Given the description of an element on the screen output the (x, y) to click on. 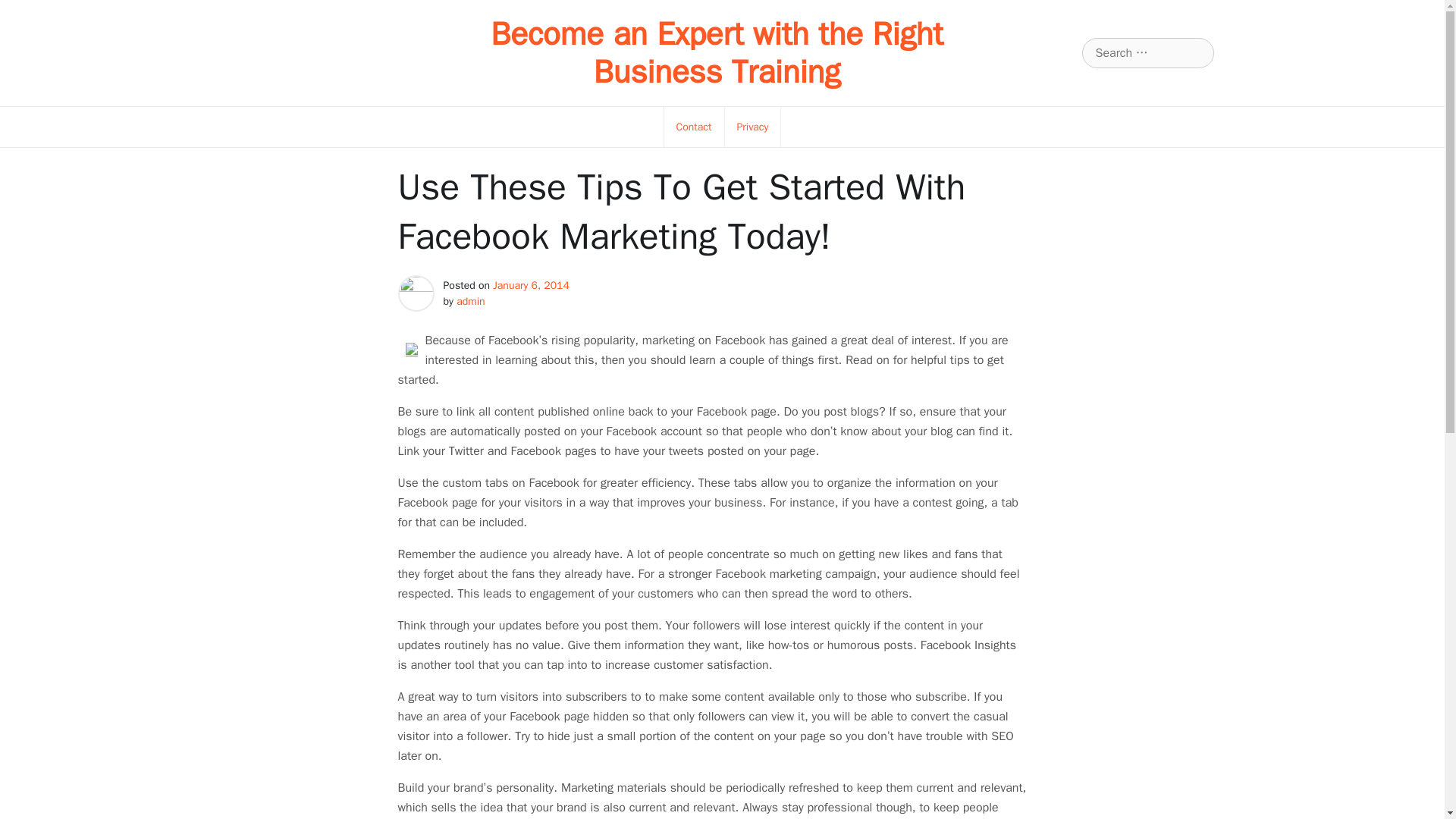
Contact (694, 127)
Privacy (752, 127)
Search (31, 12)
Search (30, 12)
January 6, 2014 (531, 285)
admin (470, 300)
Become an Expert with the Right Business Training (716, 52)
